Given the description of an element on the screen output the (x, y) to click on. 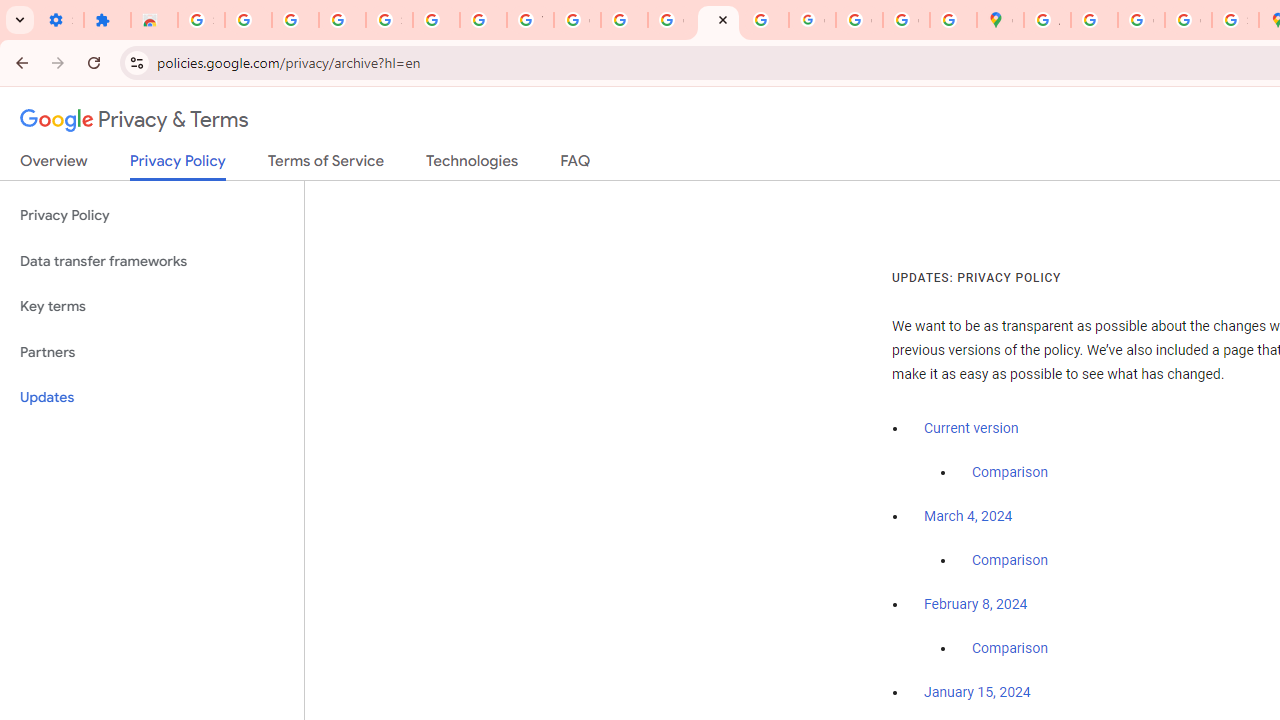
February 8, 2024 (975, 605)
January 15, 2024 (977, 693)
